Given the description of an element on the screen output the (x, y) to click on. 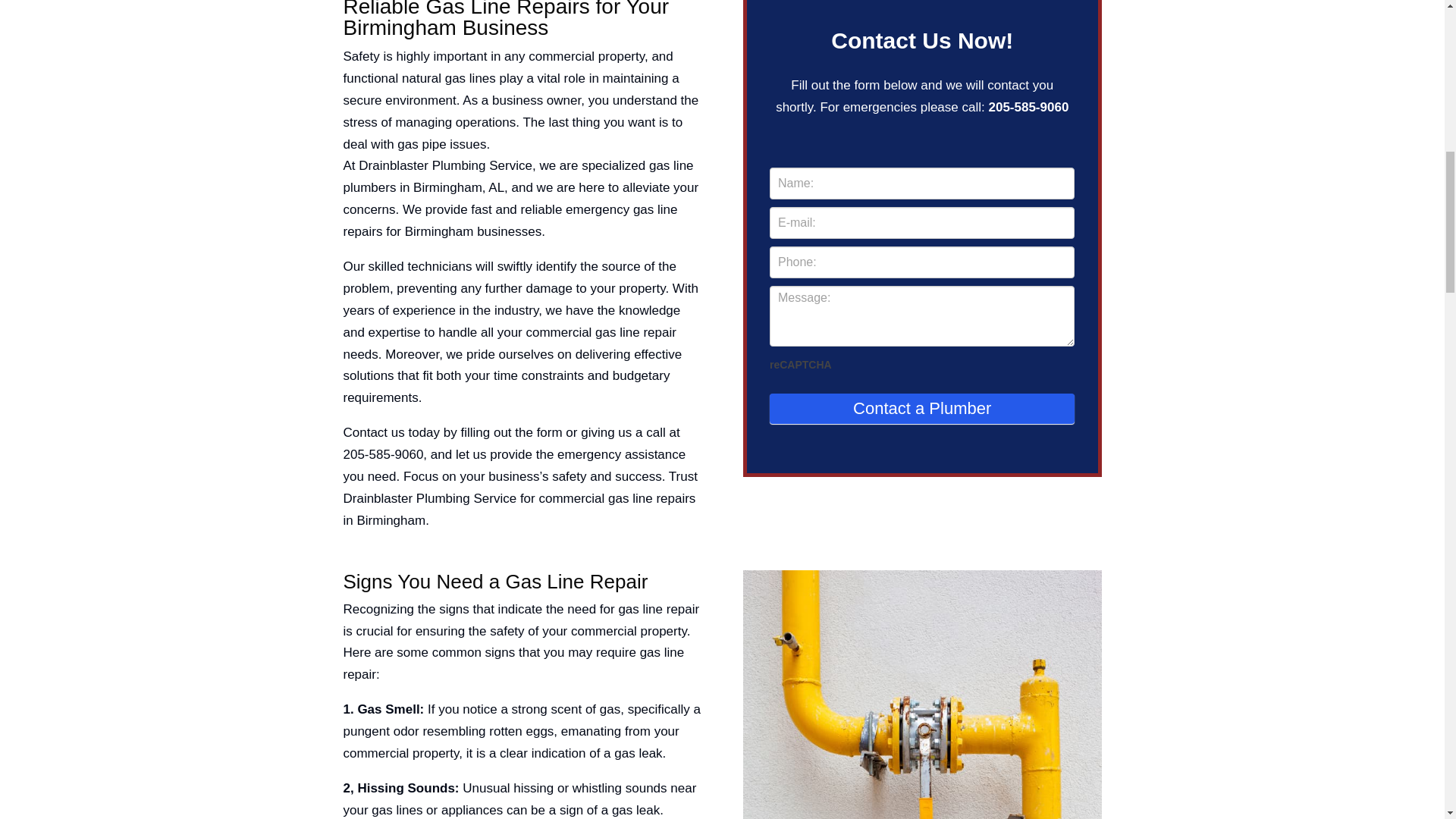
emergency-gas-leak-repair-birmingham-al (922, 694)
Contact a Plumber (922, 408)
